Given the description of an element on the screen output the (x, y) to click on. 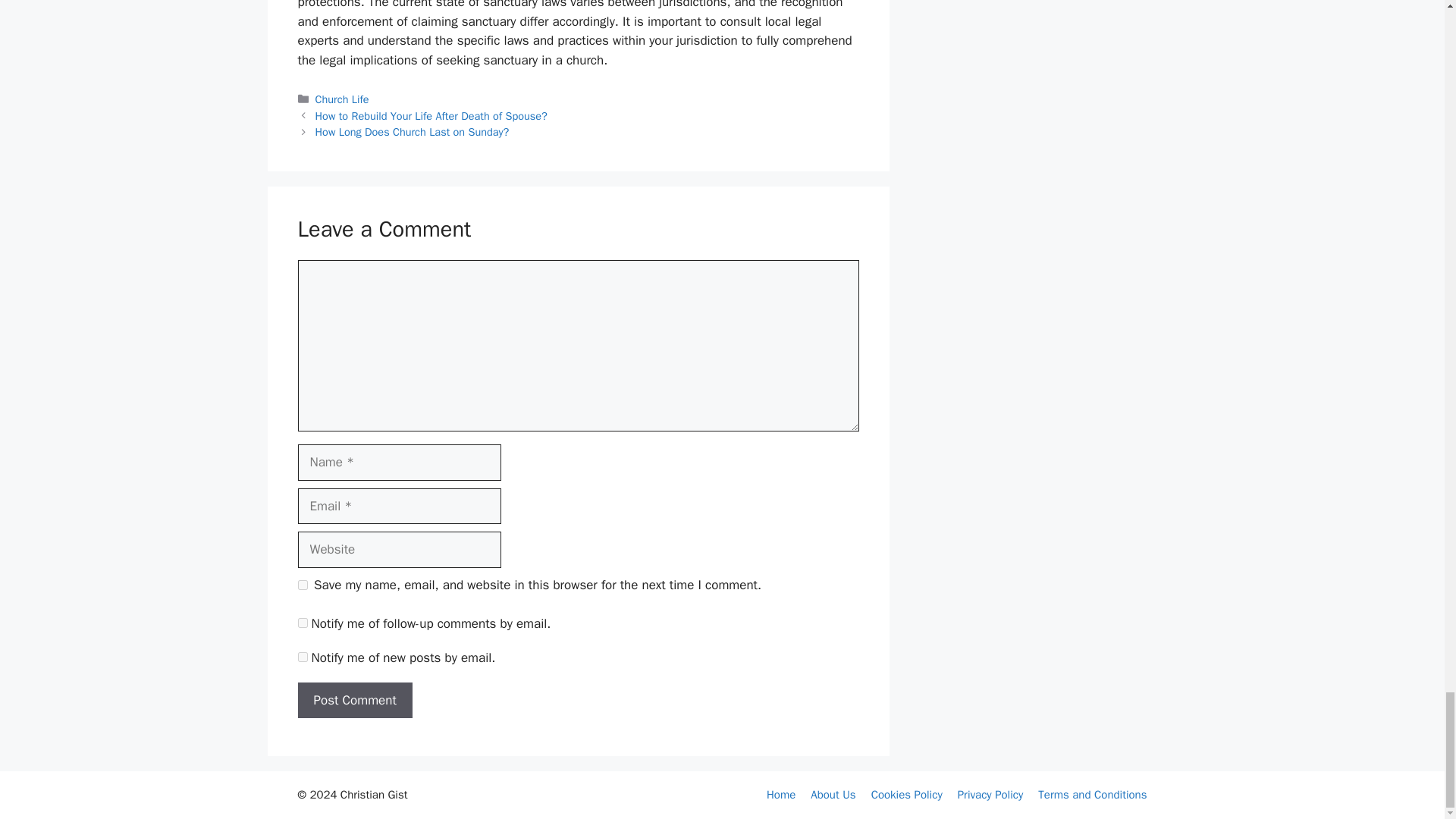
Post Comment (354, 700)
How to Rebuild Your Life After Death of Spouse? (431, 115)
yes (302, 584)
subscribe (302, 623)
Church Life (342, 99)
How Long Does Church Last on Sunday? (412, 131)
subscribe (302, 656)
Post Comment (354, 700)
